Given the description of an element on the screen output the (x, y) to click on. 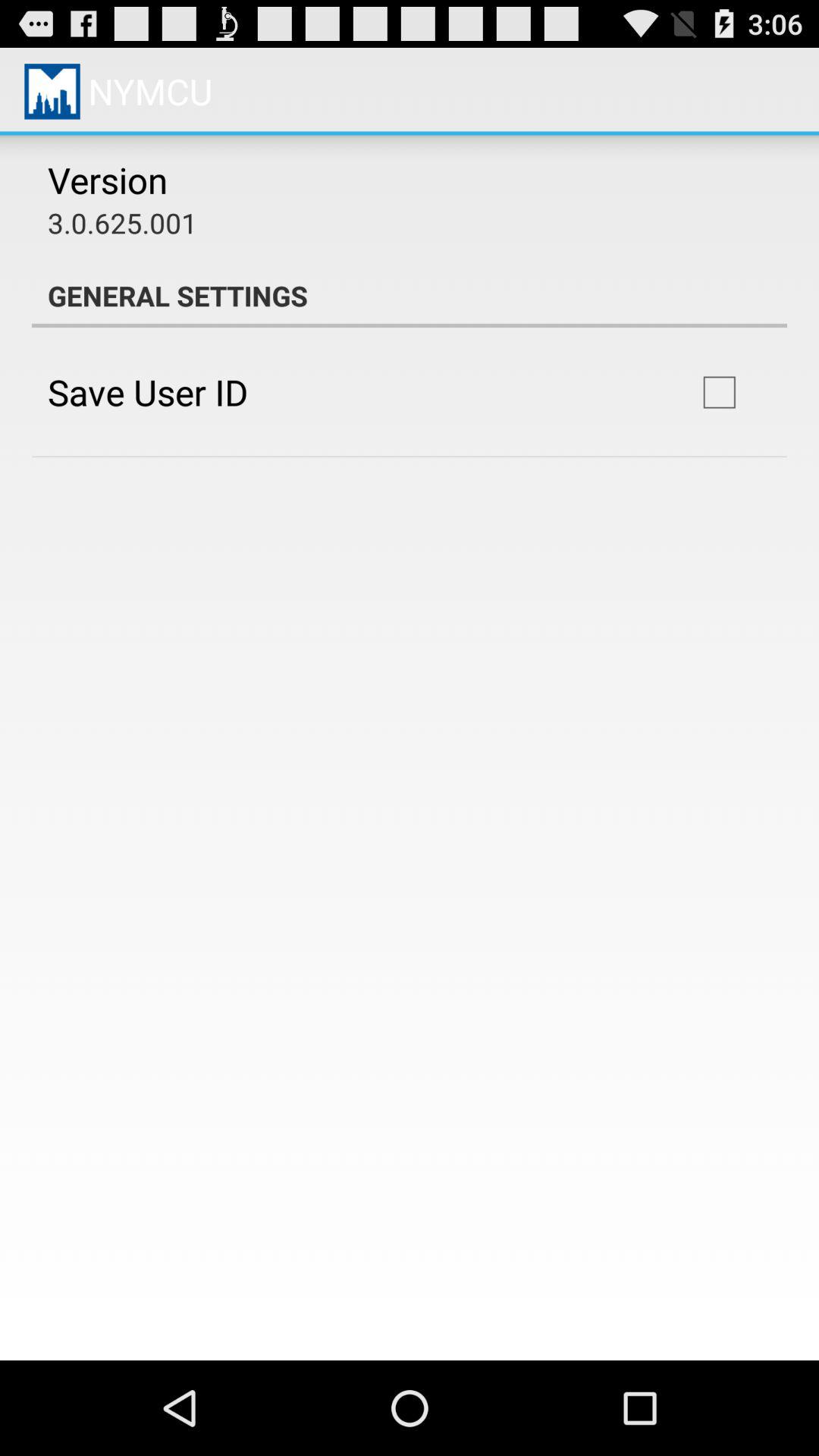
open icon next to save user id item (719, 392)
